Given the description of an element on the screen output the (x, y) to click on. 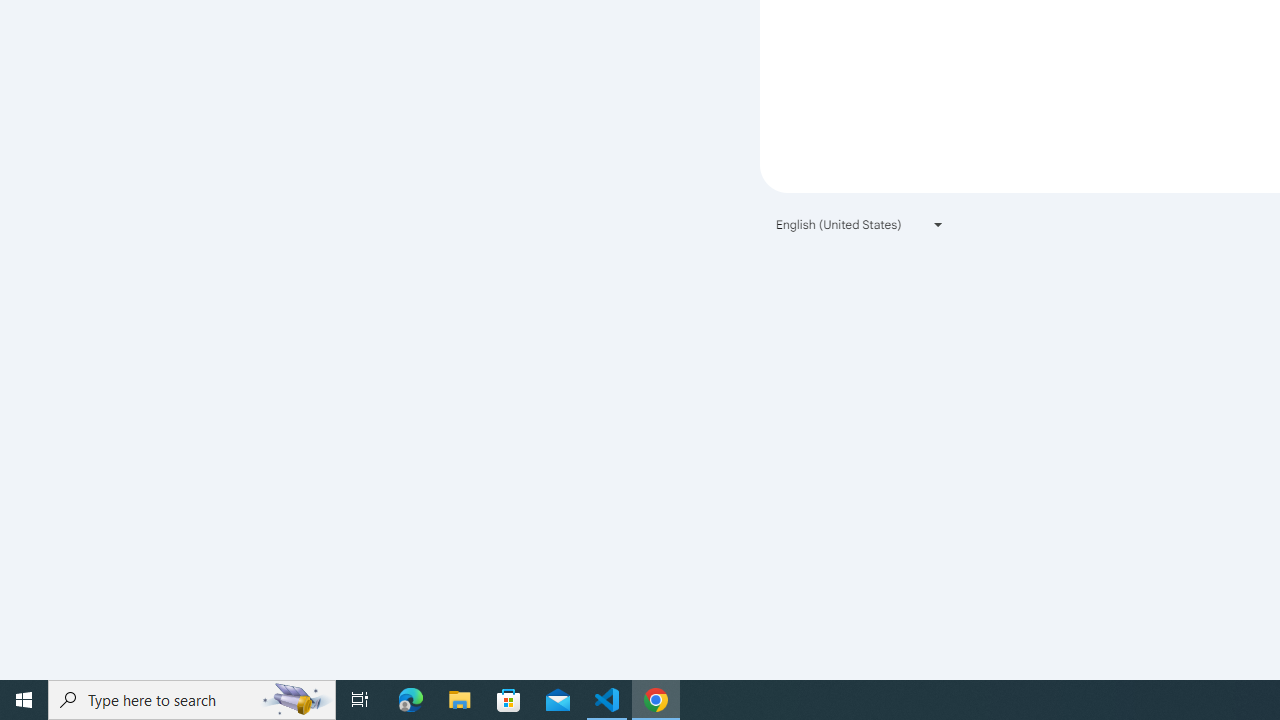
English (United States) (860, 224)
